Given the description of an element on the screen output the (x, y) to click on. 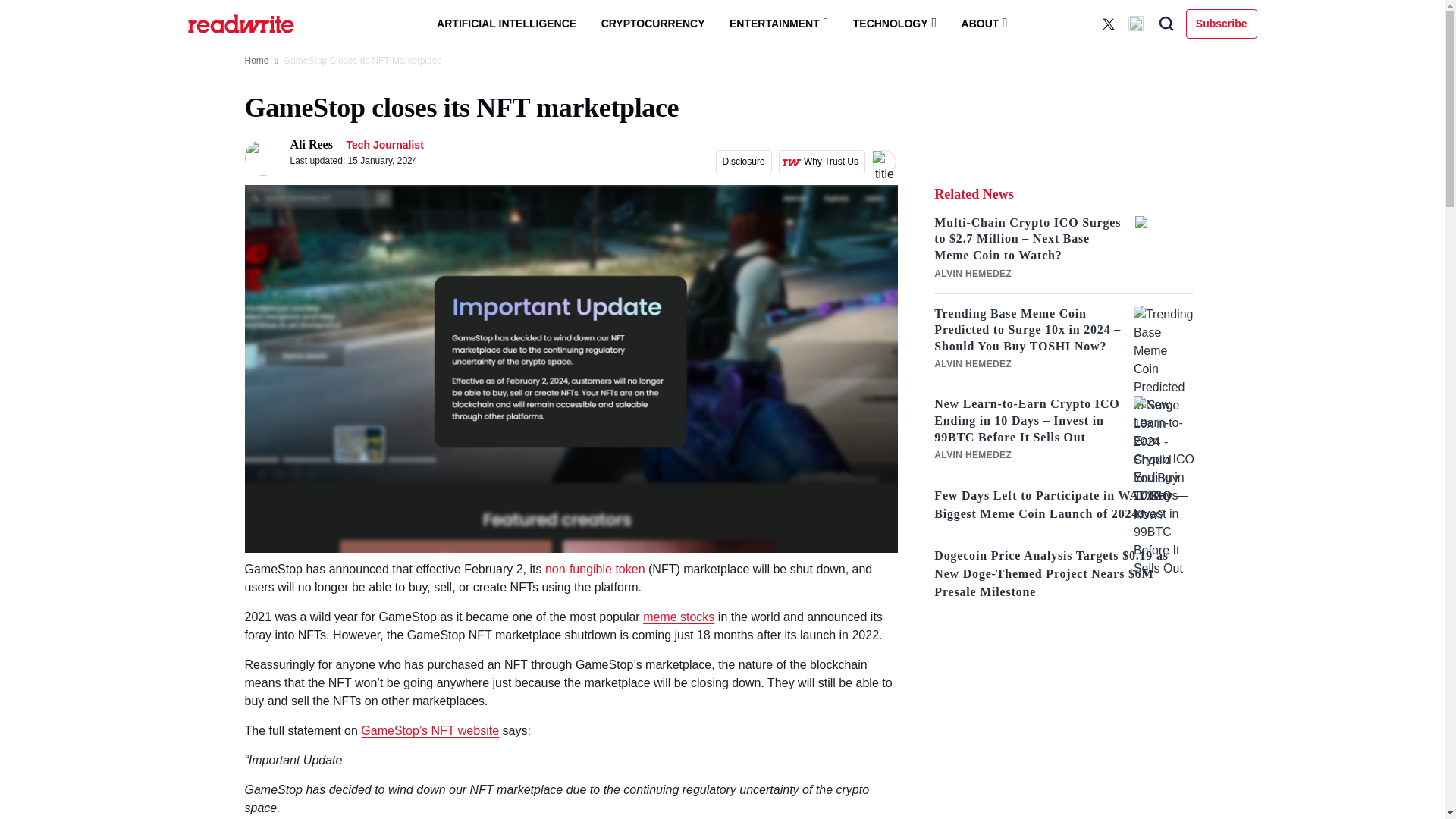
ARTIFICIAL INTELLIGENCE (506, 23)
ENTERTAINMENT (778, 23)
English (1137, 23)
TECHNOLOGY (895, 23)
Home (255, 60)
ABOUT (983, 23)
Subscribe (1221, 23)
CRYPTOCURRENCY (653, 23)
